Given the description of an element on the screen output the (x, y) to click on. 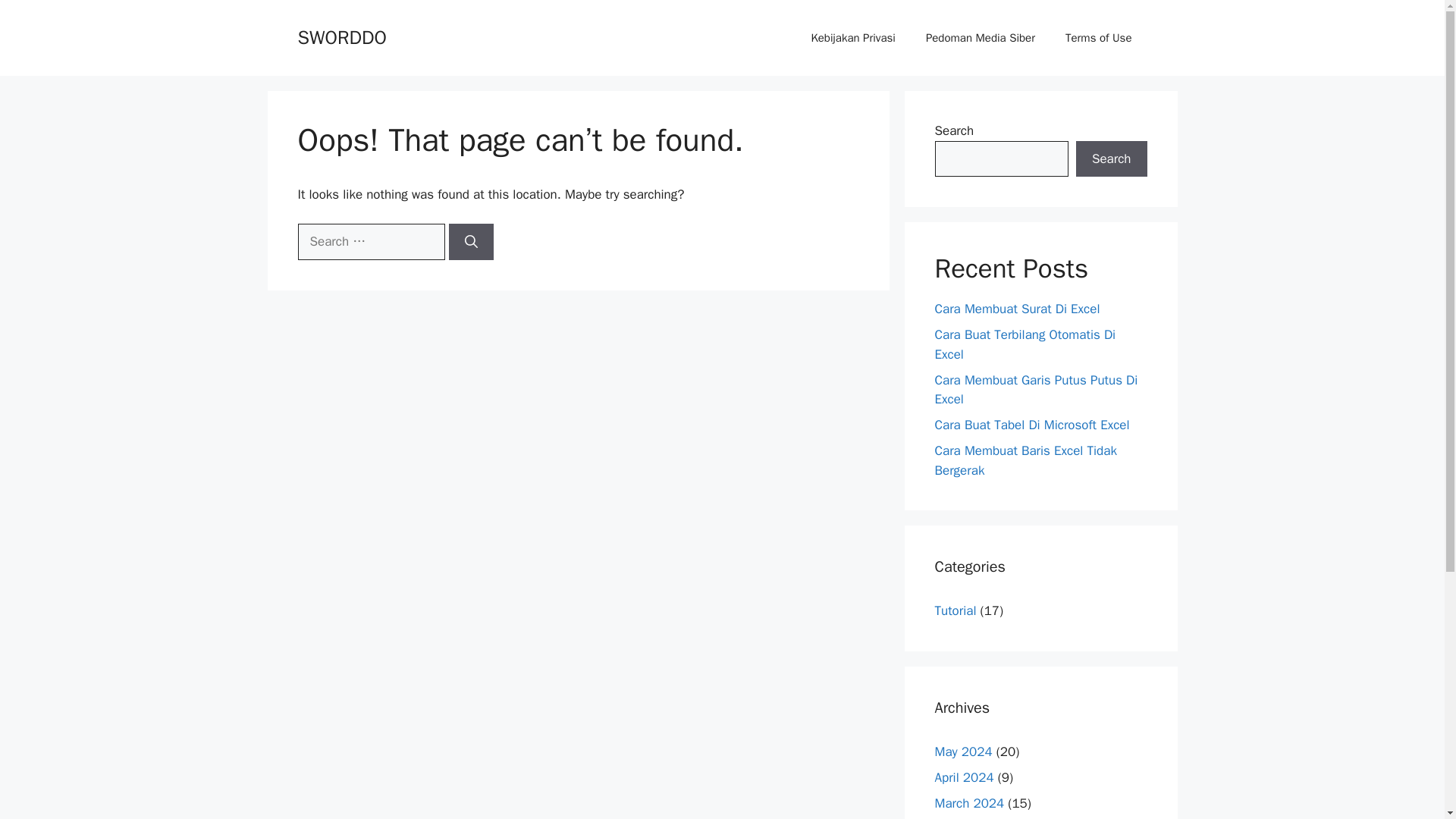
March 2024 (969, 802)
Pedoman Media Siber (980, 37)
Kebijakan Privasi (852, 37)
Terms of Use (1098, 37)
Search for: (370, 241)
Search (1111, 158)
Cara Buat Terbilang Otomatis Di Excel (1024, 344)
Tutorial (954, 610)
Cara Membuat Baris Excel Tidak Bergerak (1025, 460)
Cara Membuat Garis Putus Putus Di Excel (1035, 389)
April 2024 (963, 776)
Cara Membuat Surat Di Excel (1016, 308)
SWORDDO (341, 37)
Cara Buat Tabel Di Microsoft Excel (1031, 424)
May 2024 (962, 750)
